Given the description of an element on the screen output the (x, y) to click on. 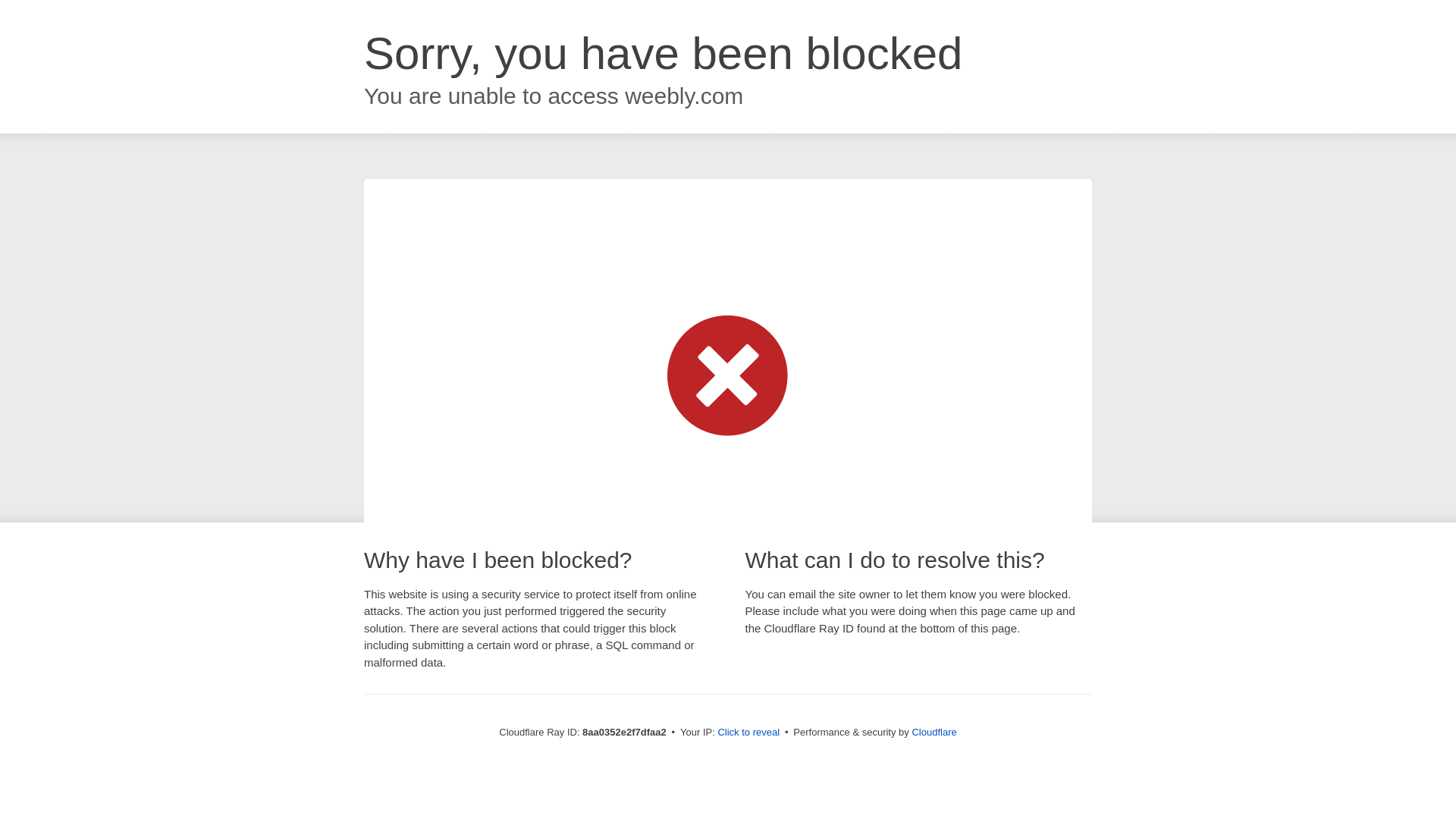
Click to reveal (747, 732)
Cloudflare (933, 731)
